Given the description of an element on the screen output the (x, y) to click on. 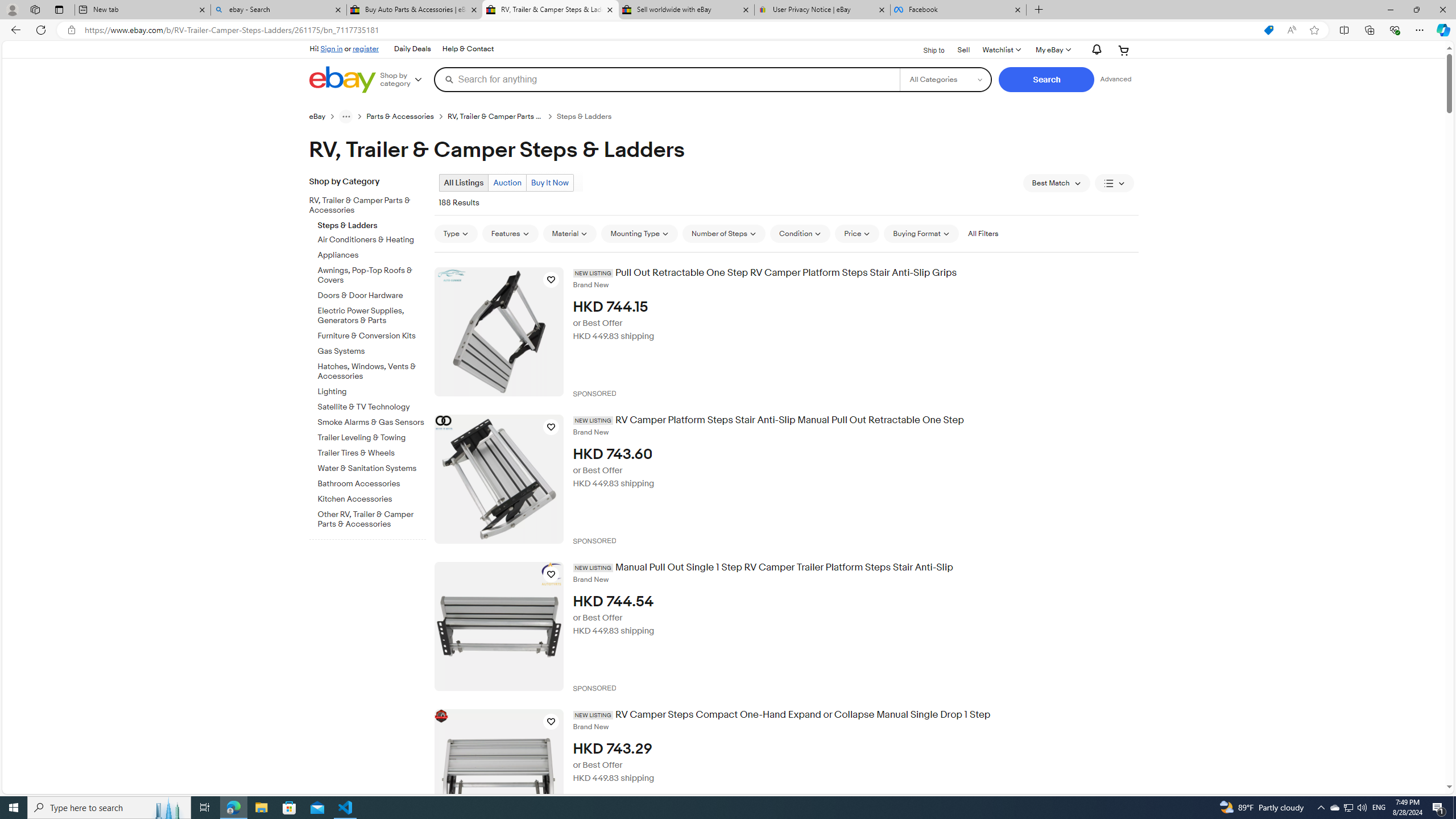
Search for anything (666, 78)
Number of Steps (723, 233)
Lighting (371, 391)
Gas Systems (371, 349)
Personal Profile (12, 9)
Buy It Now (549, 182)
Type (455, 233)
Type (455, 233)
Parts & Accessories (399, 116)
register (366, 48)
My eBayExpand My eBay (1052, 49)
eBay (323, 116)
View site information (70, 29)
